Given the description of an element on the screen output the (x, y) to click on. 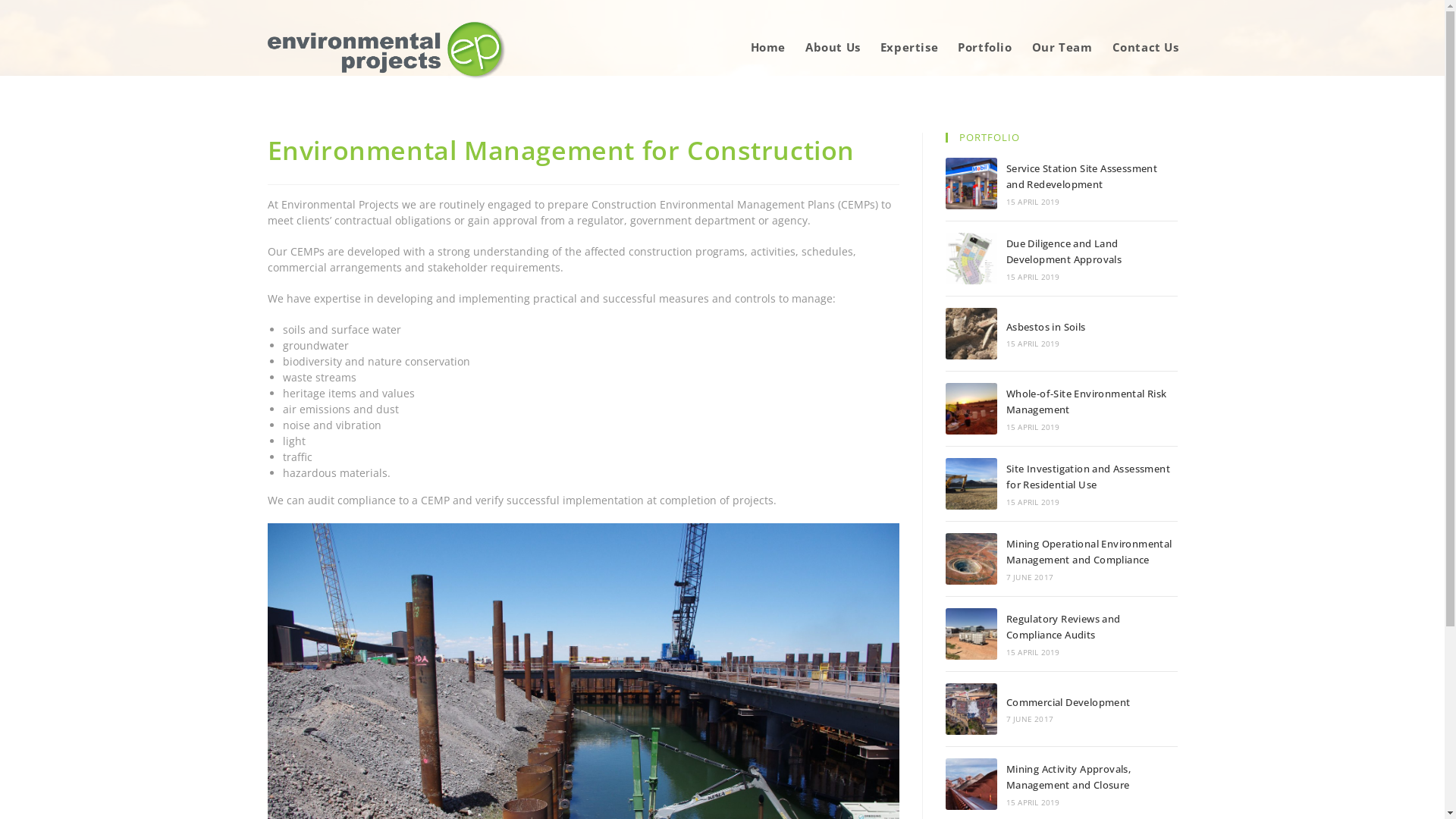
Contact Us Element type: text (1145, 47)
Mining Operational Environmental Management and Compliance Element type: hover (970, 558)
Mining Activity Approvals, Management and Closure Element type: hover (970, 783)
Portfolio Element type: text (984, 47)
Asbestos in Soils Element type: hover (970, 333)
Due Diligence and Land Development Approvals Element type: text (1063, 251)
Our Team Element type: text (1062, 47)
Whole-of-Site Environmental Risk Management Element type: text (1086, 401)
Regulatory Reviews and Compliance Audits Element type: hover (970, 633)
Mining Activity Approvals, Management and Closure Element type: text (1068, 776)
Home Element type: text (767, 47)
Commercial Development Element type: text (1068, 702)
Whole-of-Site Environmental Risk Management Element type: hover (970, 408)
Asbestos in Soils Element type: text (1045, 326)
Due Diligence and Land Development Approvals Element type: hover (970, 258)
Regulatory Reviews and Compliance Audits Element type: text (1063, 626)
Service Station Site Assessment and Redevelopment Element type: hover (970, 183)
Mining Operational Environmental Management and Compliance Element type: text (1089, 551)
About Us Element type: text (832, 47)
Site Investigation and Assessment for Residential Use Element type: hover (970, 483)
Commercial Development Element type: hover (970, 708)
Site Investigation and Assessment for Residential Use Element type: text (1088, 476)
Expertise Element type: text (908, 47)
Service Station Site Assessment and Redevelopment Element type: text (1081, 176)
